Given the description of an element on the screen output the (x, y) to click on. 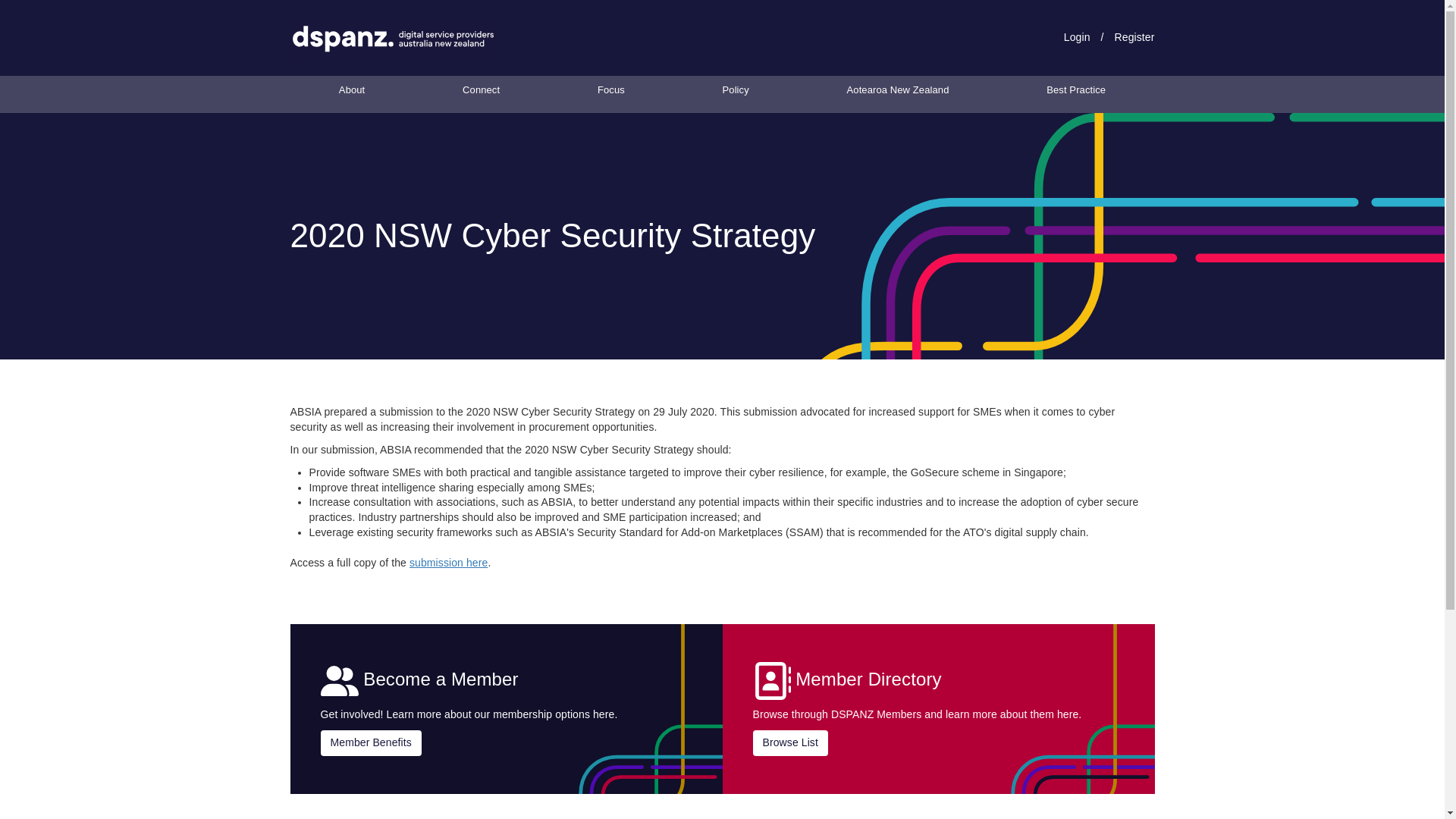
Login (1077, 37)
Register (1134, 37)
